Given the description of an element on the screen output the (x, y) to click on. 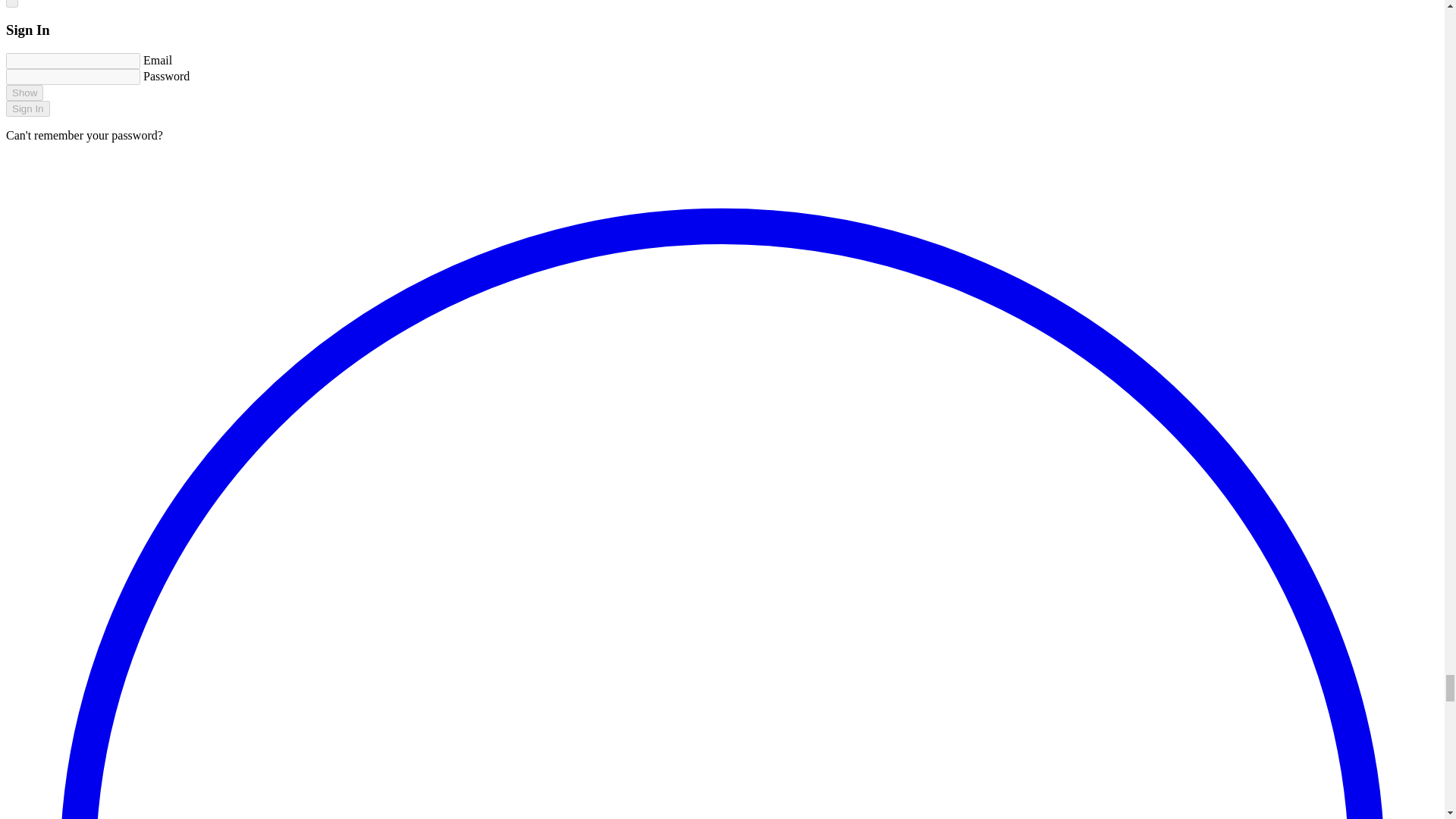
Sign In (27, 108)
